Given the description of an element on the screen output the (x, y) to click on. 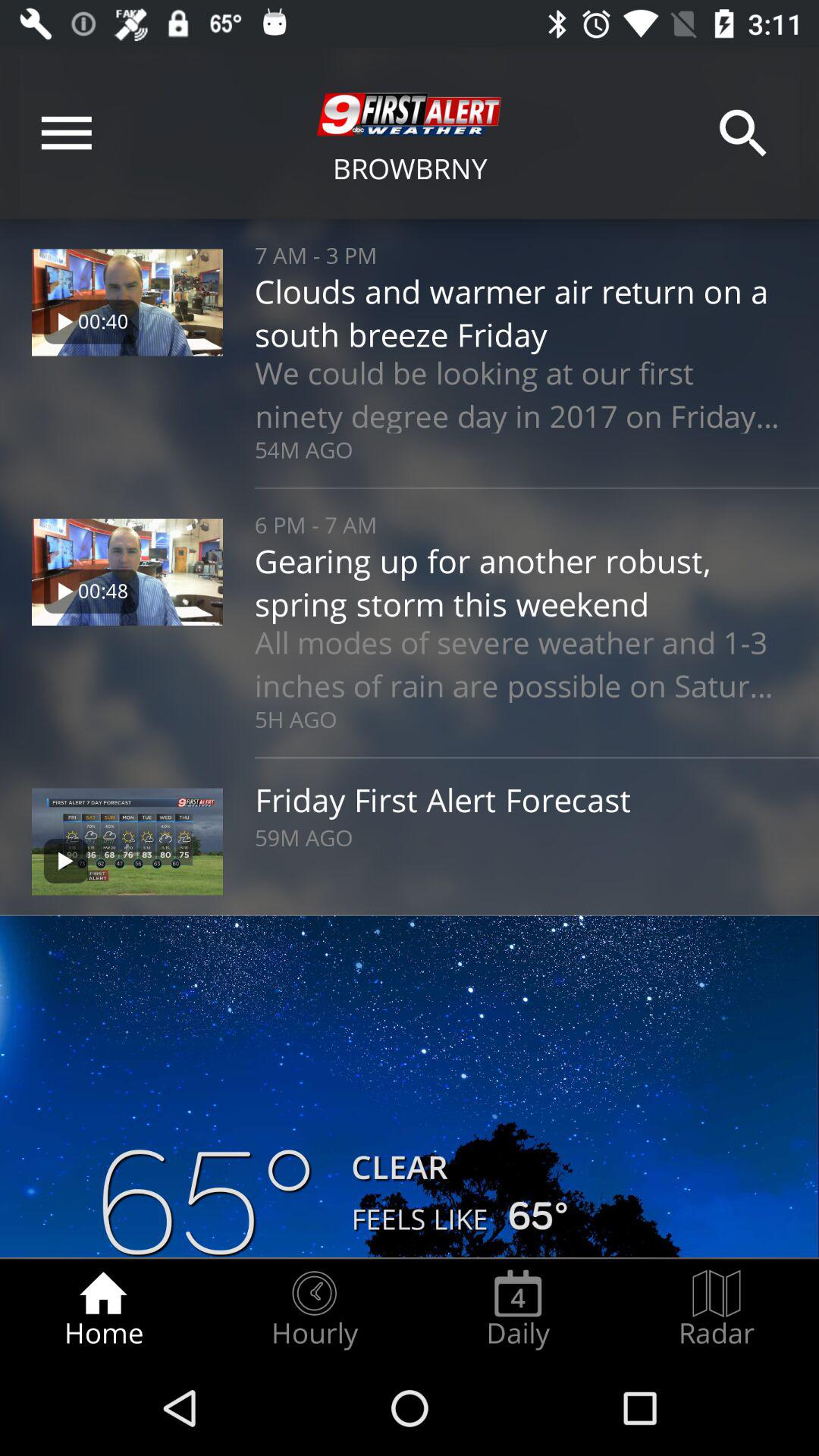
turn off the radio button to the left of the hourly (103, 1309)
